Given the description of an element on the screen output the (x, y) to click on. 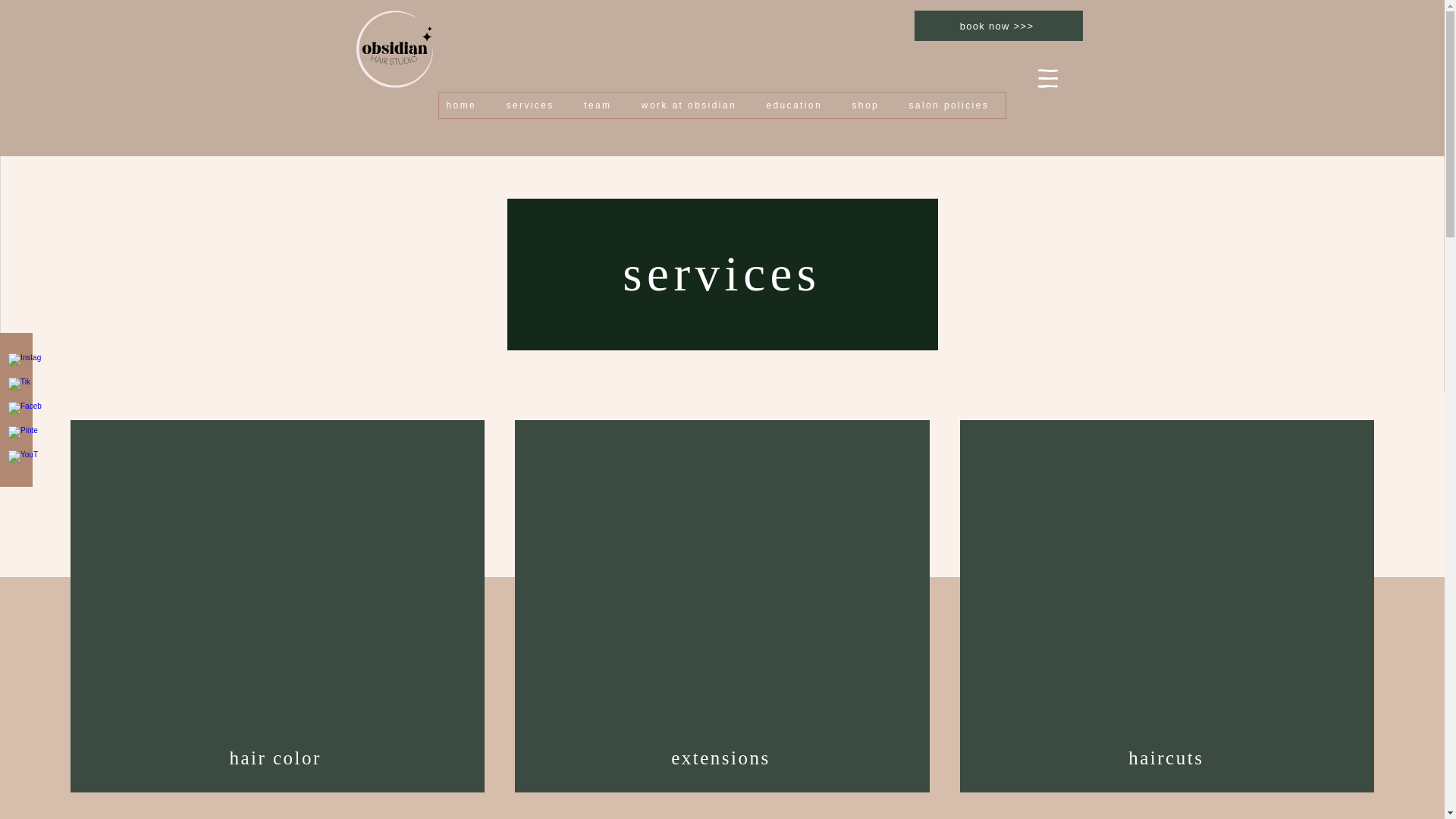
hair color (276, 757)
extensions (721, 757)
work at obsidian (692, 104)
salon policies (952, 104)
services (534, 104)
team (601, 104)
education (798, 104)
haircuts (1167, 757)
home (465, 104)
